Given the description of an element on the screen output the (x, y) to click on. 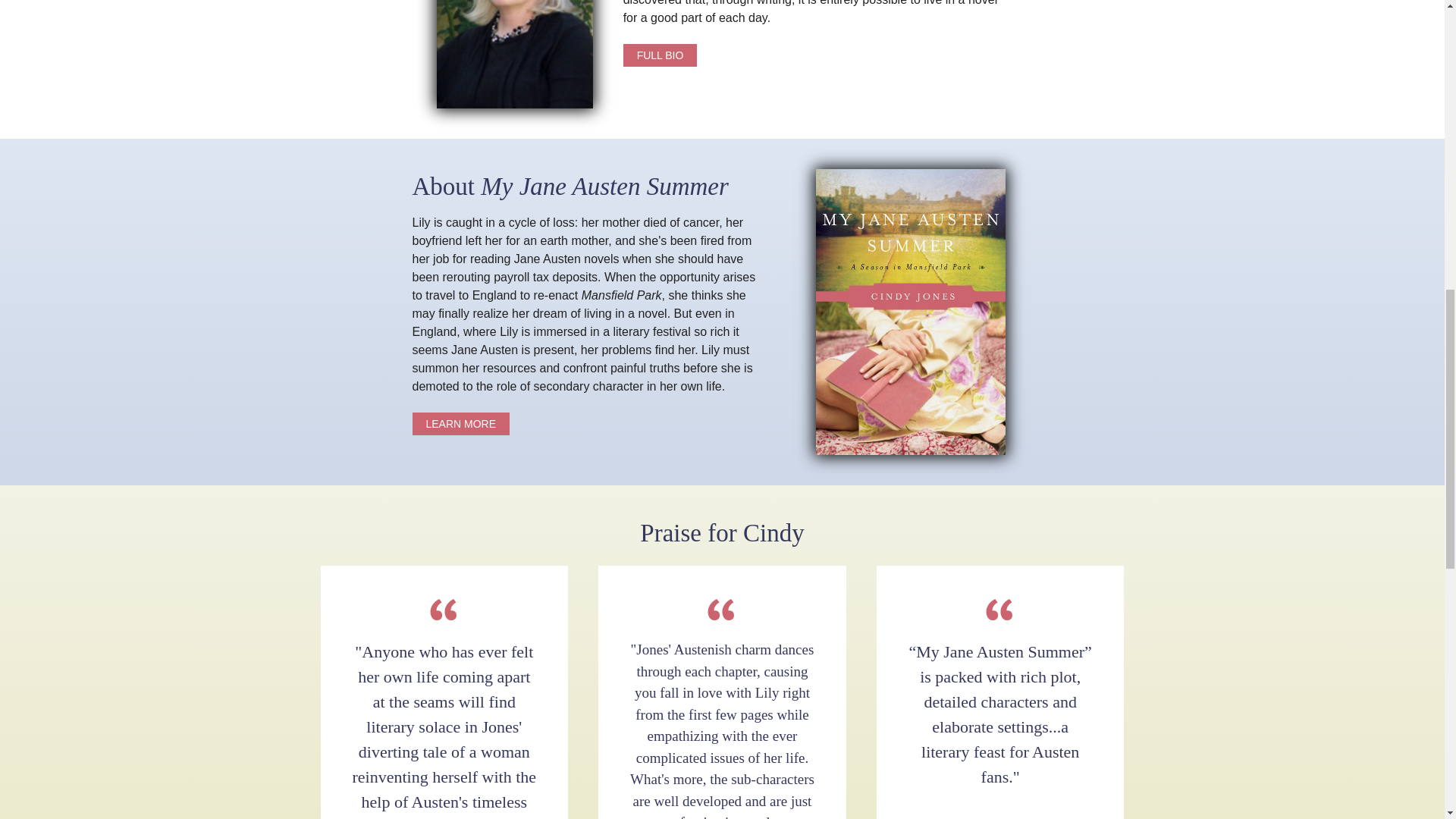
LEARN MORE (461, 423)
FULL BIO (660, 55)
M5e833c4c6f9f1c862e09619ae774ca701681735823203 (514, 54)
